Given the description of an element on the screen output the (x, y) to click on. 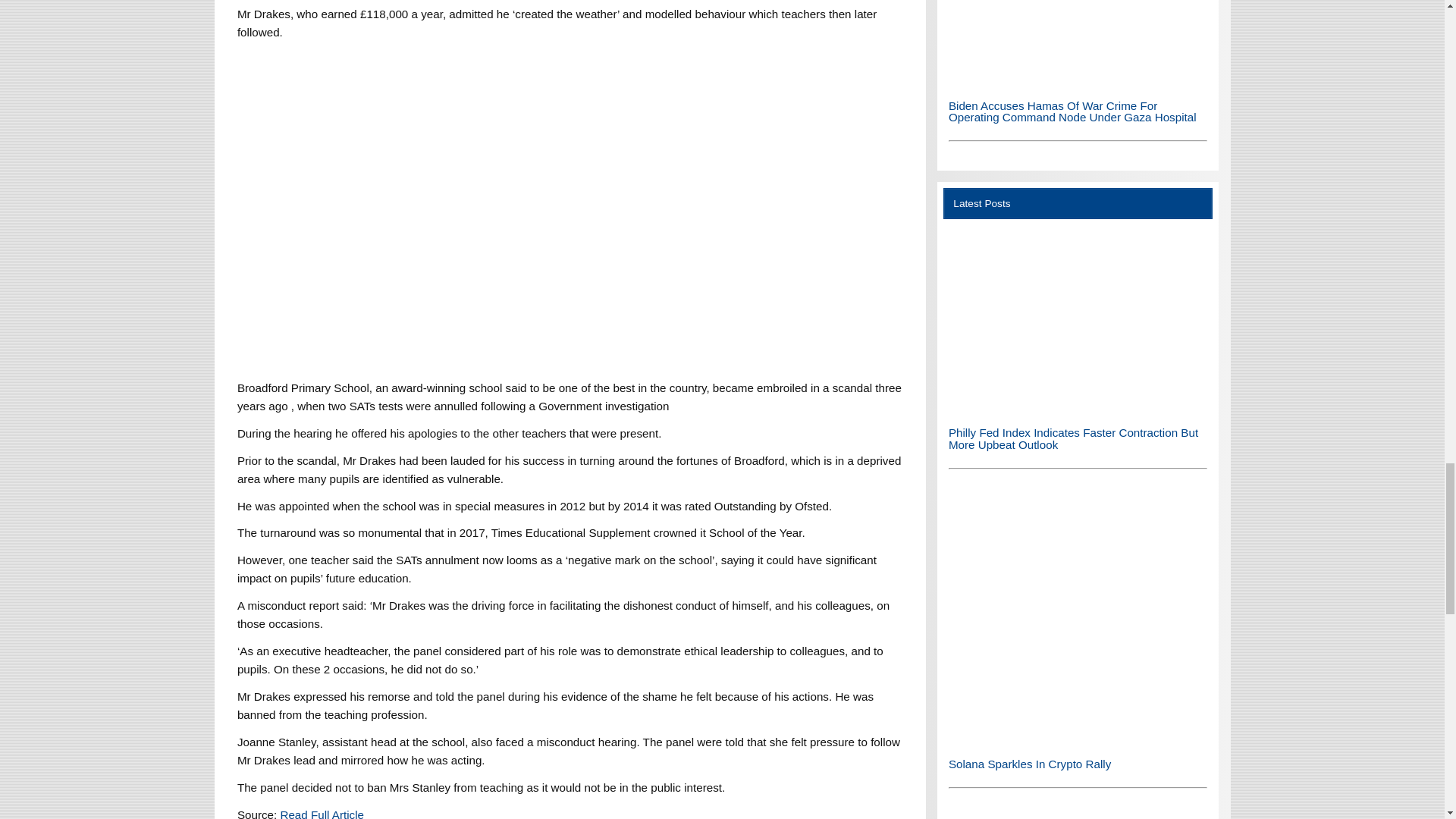
Solana Sparkles In Crypto Rally (1078, 740)
Solana Sparkles In Crypto Rally (1078, 615)
Read Full Article (321, 813)
